Given the description of an element on the screen output the (x, y) to click on. 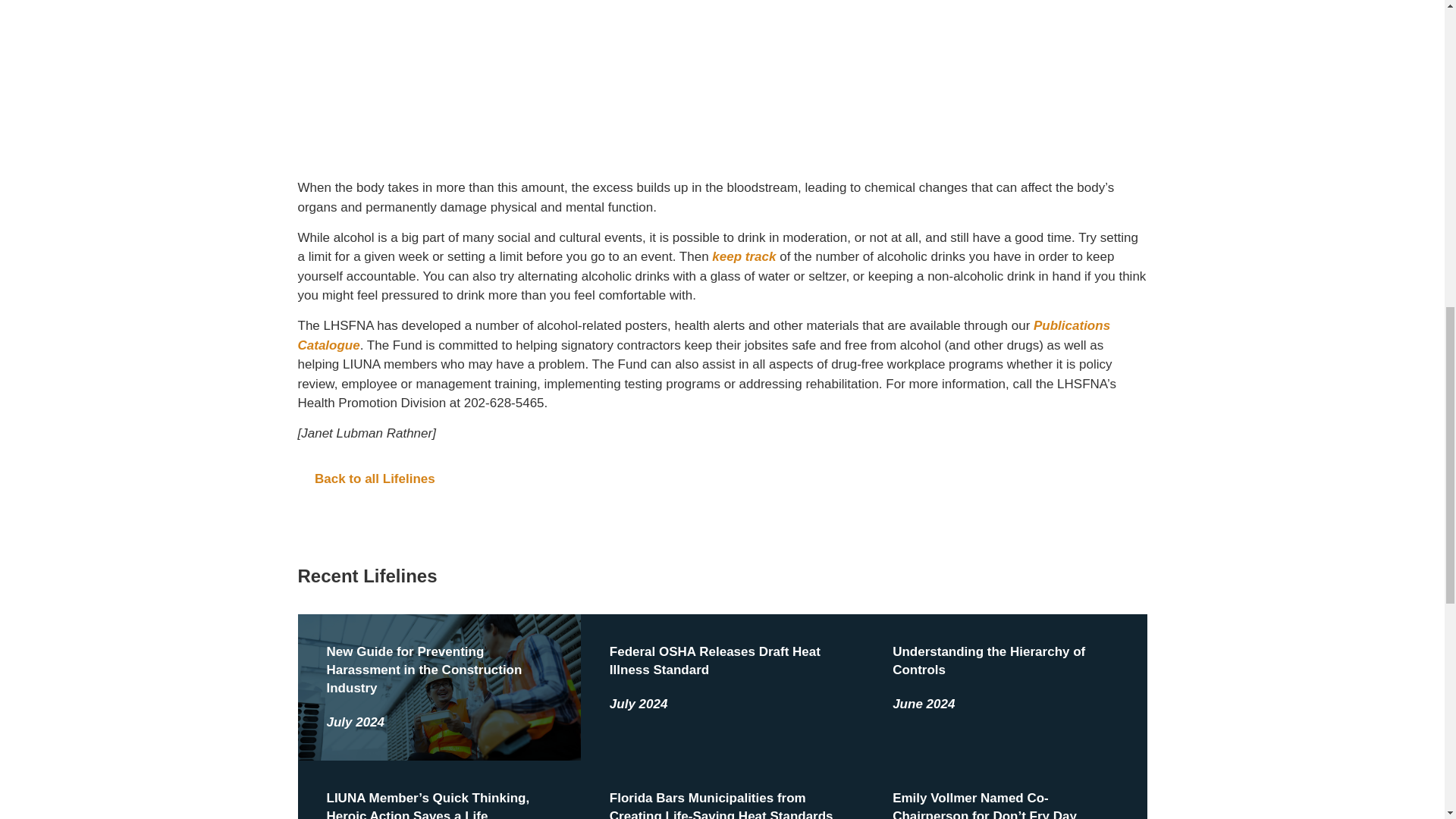
keep track (743, 256)
Publications Catalogue (703, 335)
Federal OSHA Releases Draft Heat Illness Standard (715, 660)
Understanding the Hierarchy of Controls (988, 660)
Back to all Lifelines (722, 478)
